Given the description of an element on the screen output the (x, y) to click on. 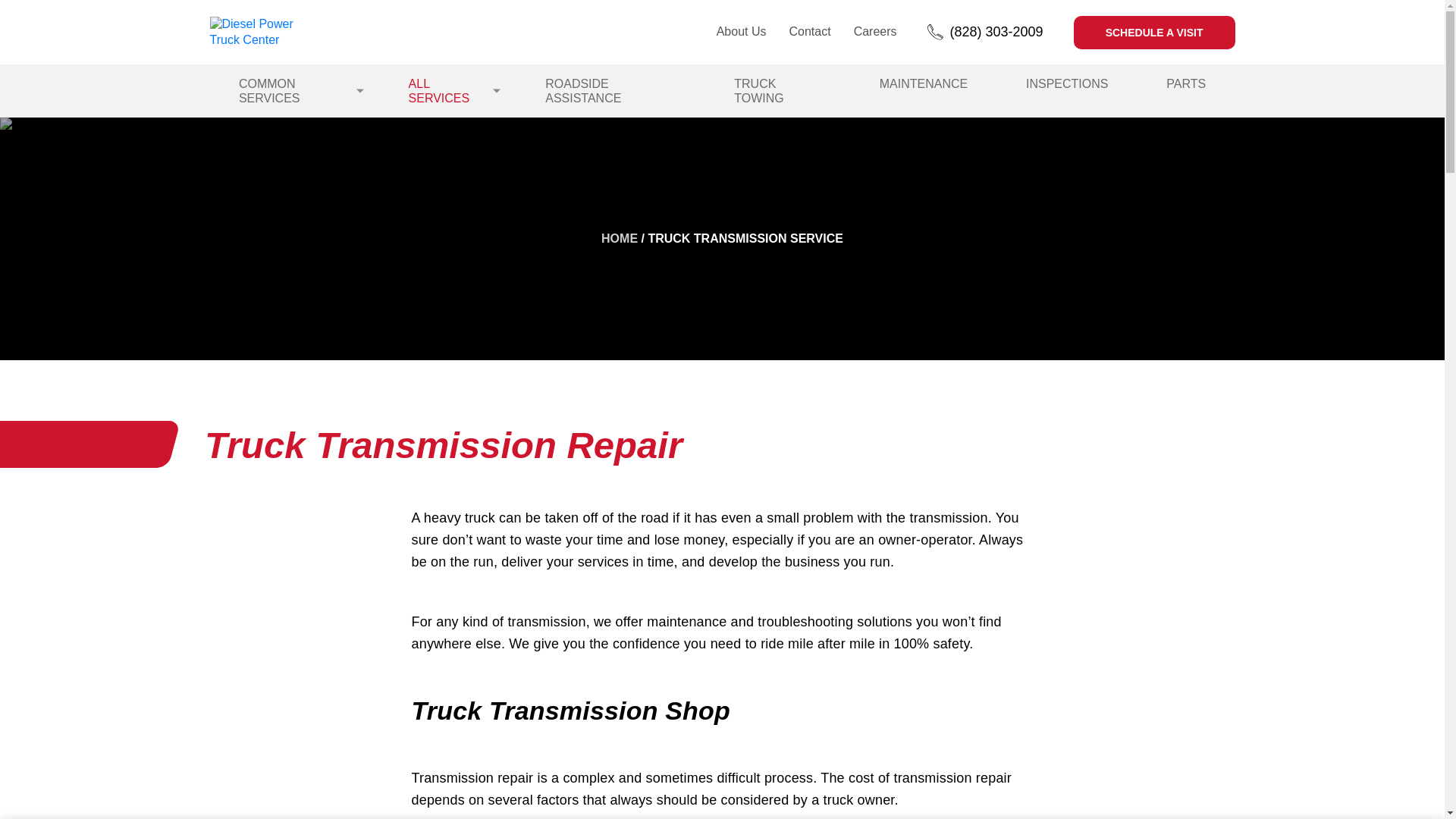
Careers (874, 31)
ALL SERVICES (448, 90)
Contact (809, 31)
About Us (741, 31)
SCHEDULE A VISIT (1154, 31)
